Given the description of an element on the screen output the (x, y) to click on. 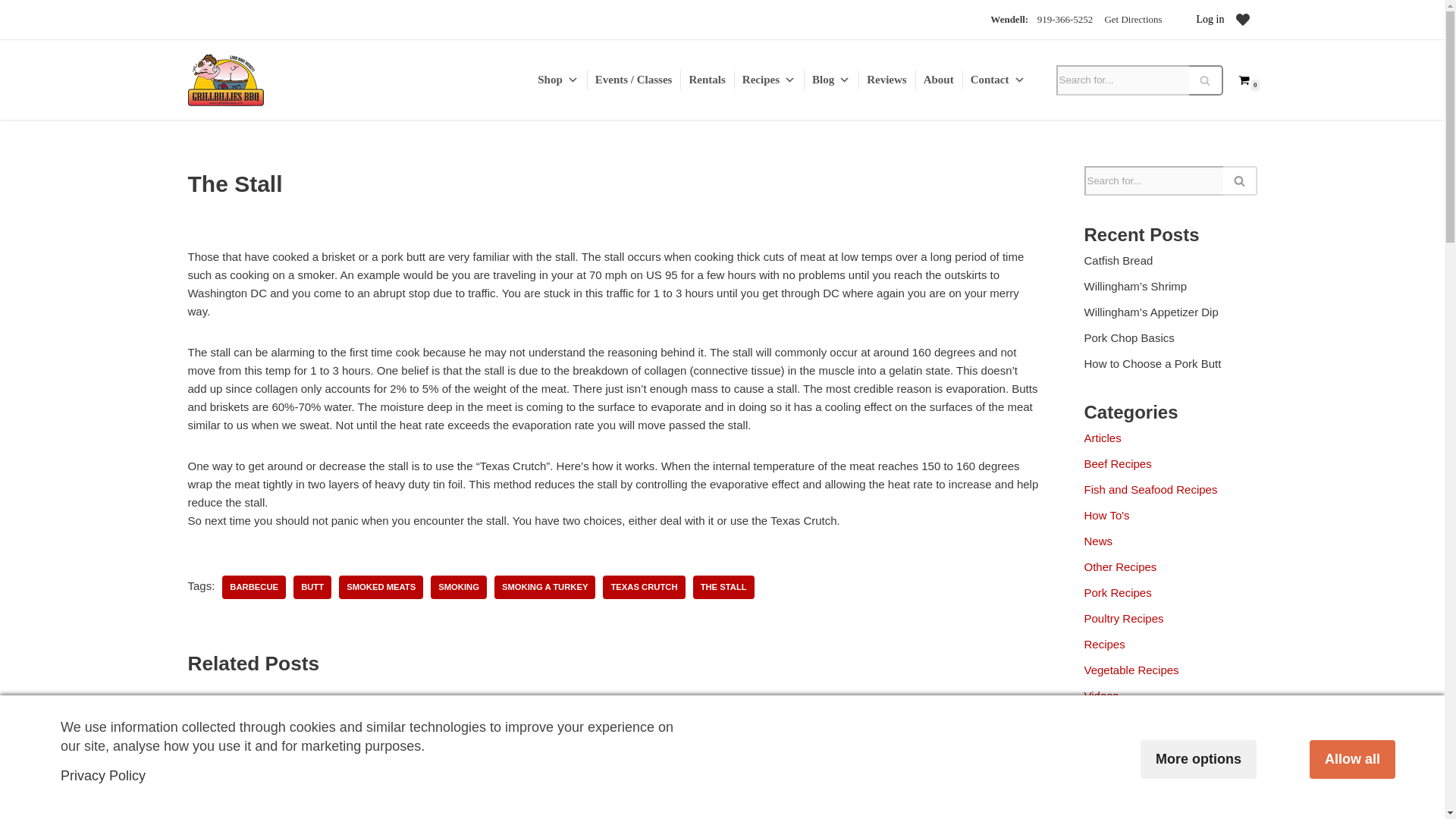
Get Directions (1132, 19)
Log in (1210, 19)
Smoked Meats (381, 586)
Skip to content (11, 31)
919-366-5252 (1064, 19)
Texas Crutch (643, 586)
The Stall (723, 586)
Smoking (458, 586)
butt (312, 586)
Barbecue (253, 586)
Smoking a Turkey (545, 586)
Shop (556, 79)
